Given the description of an element on the screen output the (x, y) to click on. 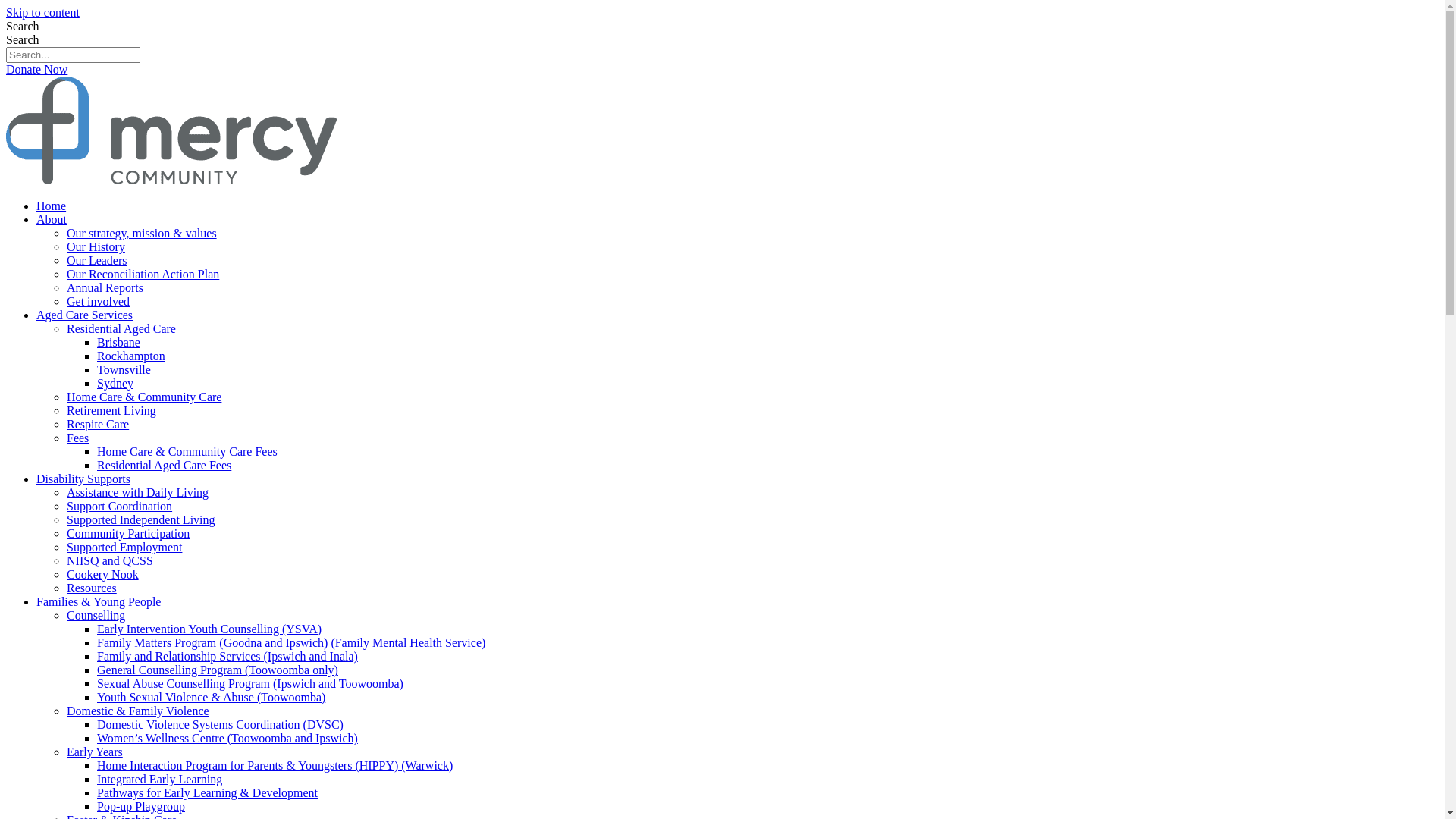
Pop-up Playgroup Element type: text (141, 806)
Aged Care Services Element type: text (84, 314)
Supported Independent Living Element type: text (140, 519)
Integrated Early Learning Element type: text (159, 778)
Get involved Element type: text (97, 300)
Families & Young People Element type: text (98, 601)
Sexual Abuse Counselling Program (Ipswich and Toowoomba) Element type: text (250, 683)
Disability Supports Element type: text (83, 478)
Donate Now Element type: text (36, 68)
Home Care & Community Care Element type: text (143, 396)
Sydney Element type: text (115, 382)
About Element type: text (51, 219)
Early Intervention Youth Counselling (YSVA) Element type: text (209, 628)
Townsville Element type: text (123, 369)
Youth Sexual Violence & Abuse (Toowoomba) Element type: text (211, 696)
NIISQ and QCSS Element type: text (109, 560)
Assistance with Daily Living Element type: text (137, 492)
Community Participation Element type: text (127, 533)
Counselling Element type: text (95, 614)
Retirement Living Element type: text (111, 410)
Skip to content Element type: text (42, 12)
Home Care & Community Care Fees Element type: text (187, 451)
Supported Employment Element type: text (124, 546)
Family and Relationship Services (Ipswich and Inala) Element type: text (227, 655)
Our History Element type: text (95, 246)
Domestic Violence Systems Coordination (DVSC) Element type: text (220, 724)
Domestic & Family Violence Element type: text (137, 710)
Brisbane Element type: text (118, 341)
Our Leaders Element type: text (96, 260)
Residential Aged Care Element type: text (120, 328)
Respite Care Element type: text (97, 423)
Annual Reports Element type: text (104, 287)
Home Element type: text (50, 205)
Fees Element type: text (77, 437)
Rockhampton Element type: text (131, 355)
General Counselling Program (Toowoomba only) Element type: text (217, 669)
Cookery Nook Element type: text (102, 573)
Residential Aged Care Fees Element type: text (164, 464)
Support Coordination Element type: text (119, 505)
Early Years Element type: text (94, 751)
Pathways for Early Learning & Development Element type: text (207, 792)
Resources Element type: text (91, 587)
Our strategy, mission & values Element type: text (141, 232)
Our Reconciliation Action Plan Element type: text (142, 273)
